Given the description of an element on the screen output the (x, y) to click on. 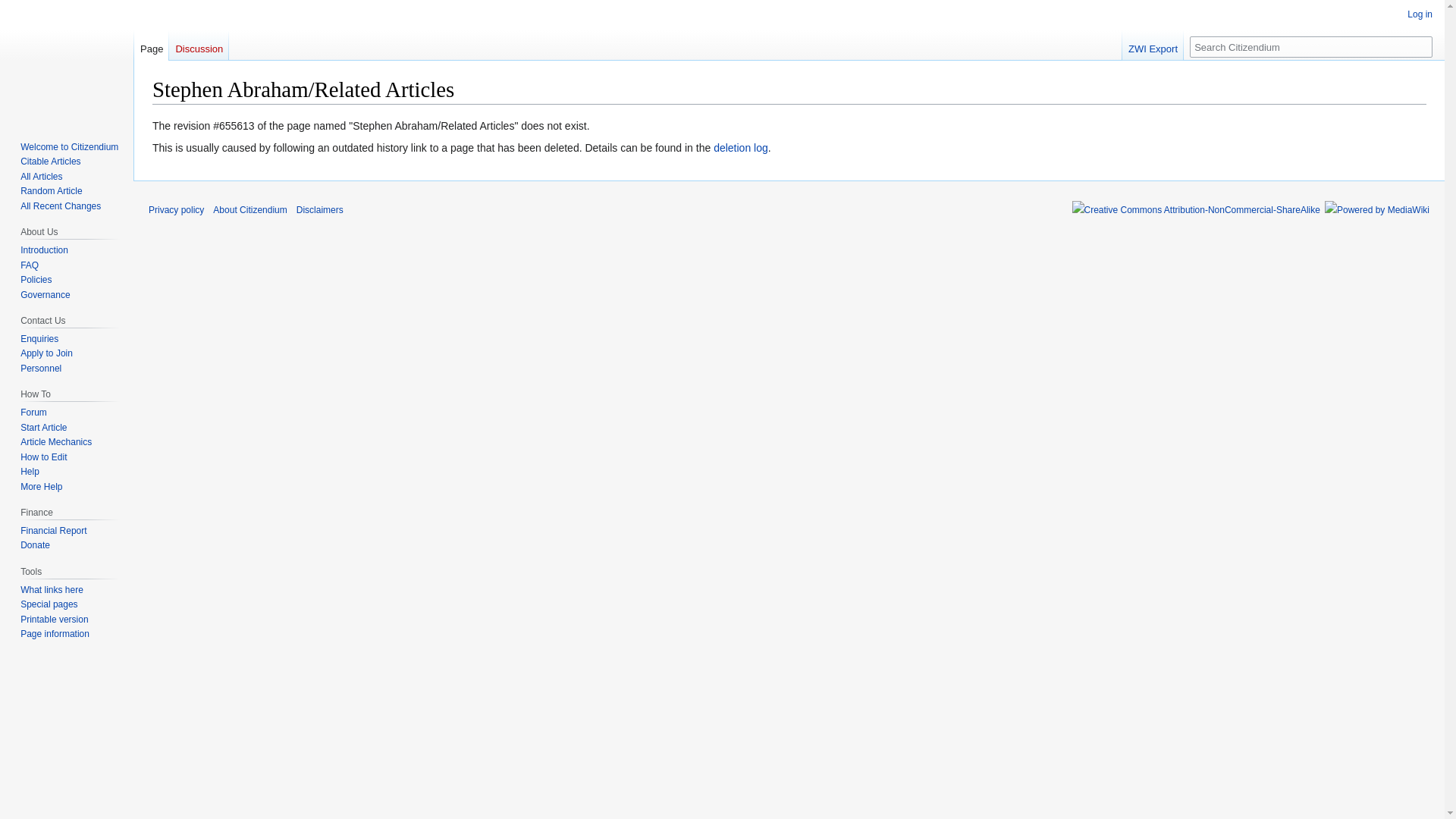
Introduction (44, 249)
Search (1420, 46)
Enquiries (39, 338)
Financial Report (52, 530)
Visit the main page (66, 60)
Page (150, 45)
Welcome to Citizendium (68, 146)
Governance (44, 294)
Start Article (43, 427)
Go To Page (1420, 46)
